Given the description of an element on the screen output the (x, y) to click on. 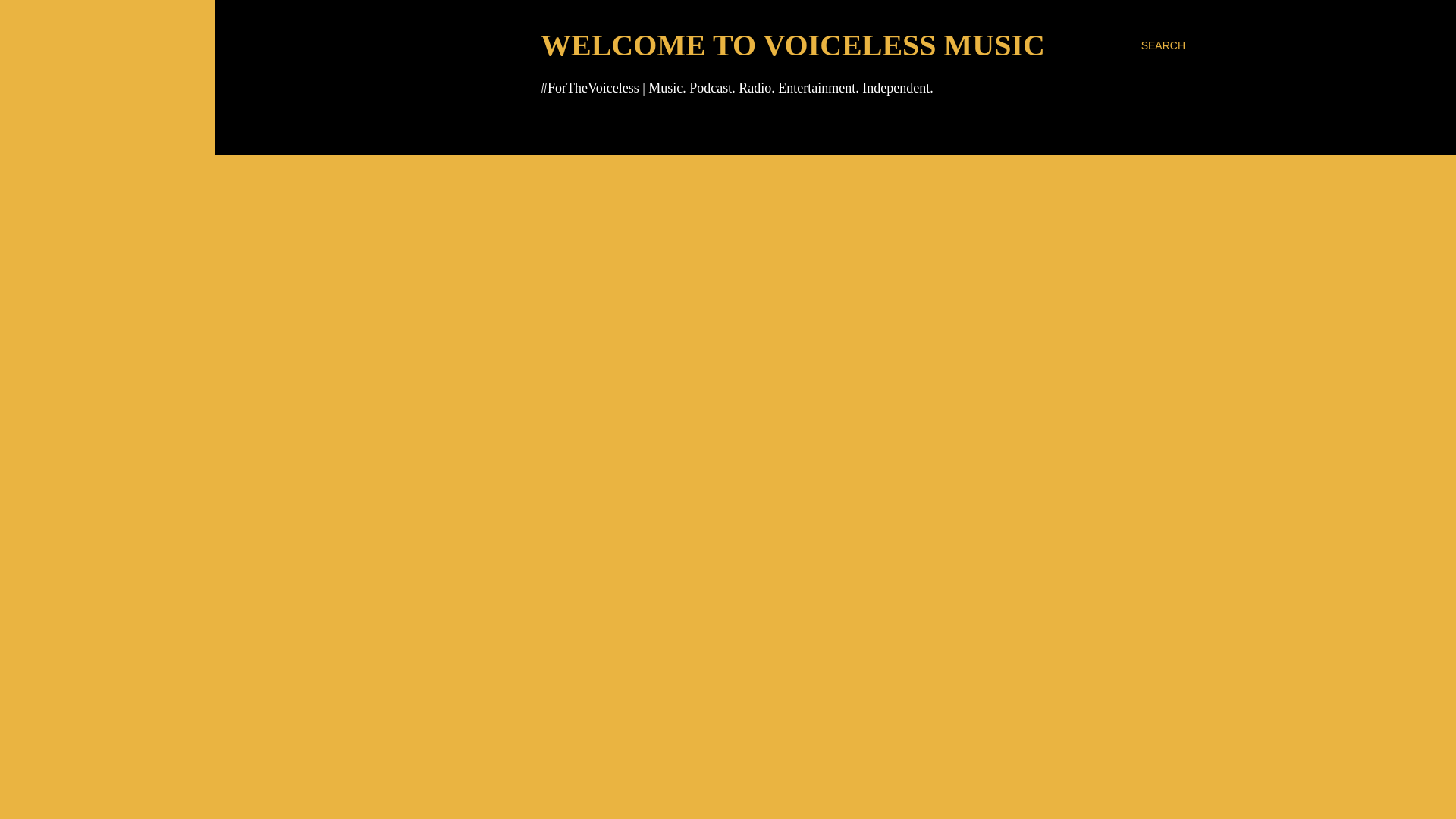
SEARCH (1163, 45)
WELCOME TO VOICELESS MUSIC (792, 44)
